Given the description of an element on the screen output the (x, y) to click on. 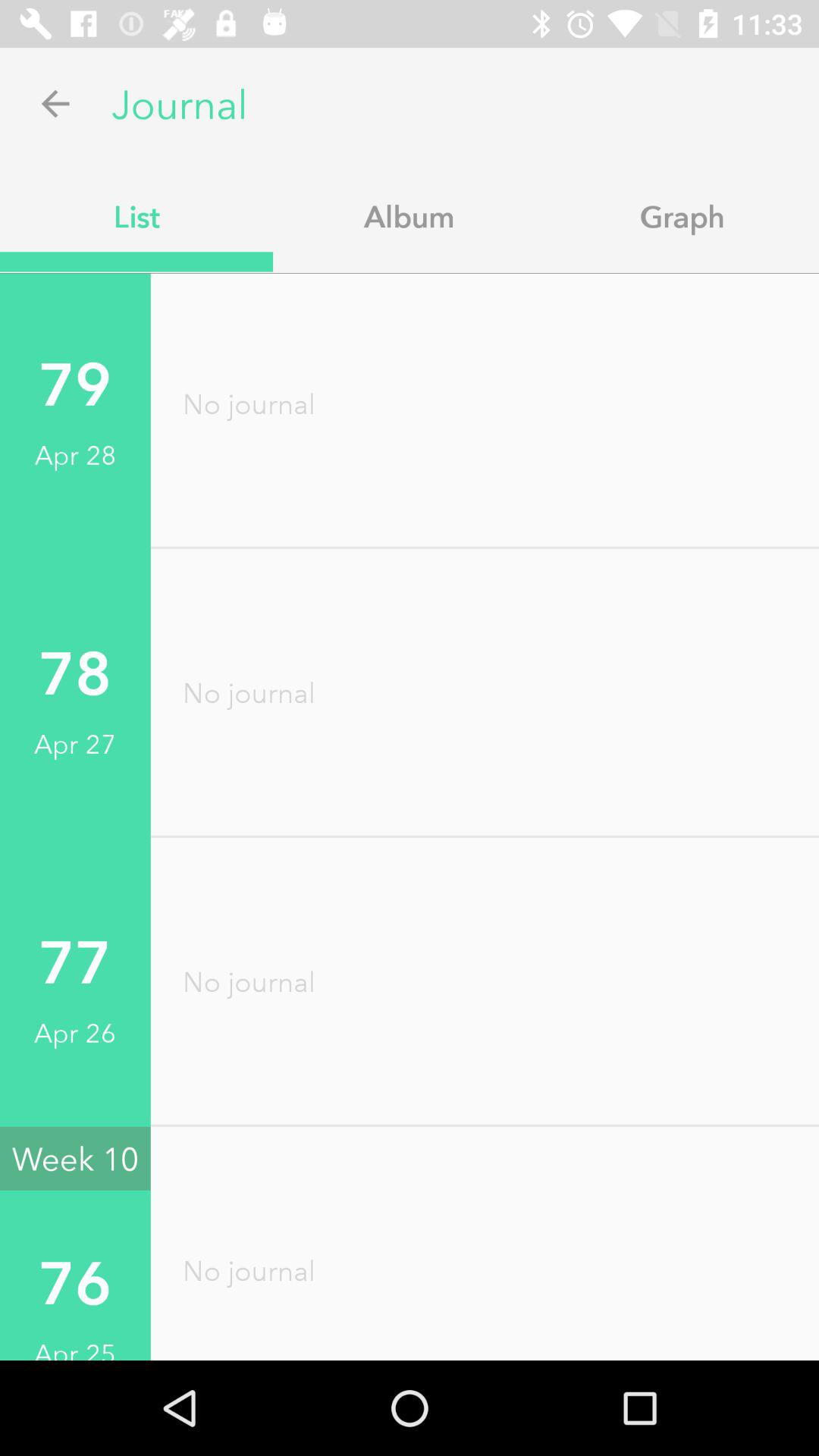
press item next to the album item (682, 216)
